Given the description of an element on the screen output the (x, y) to click on. 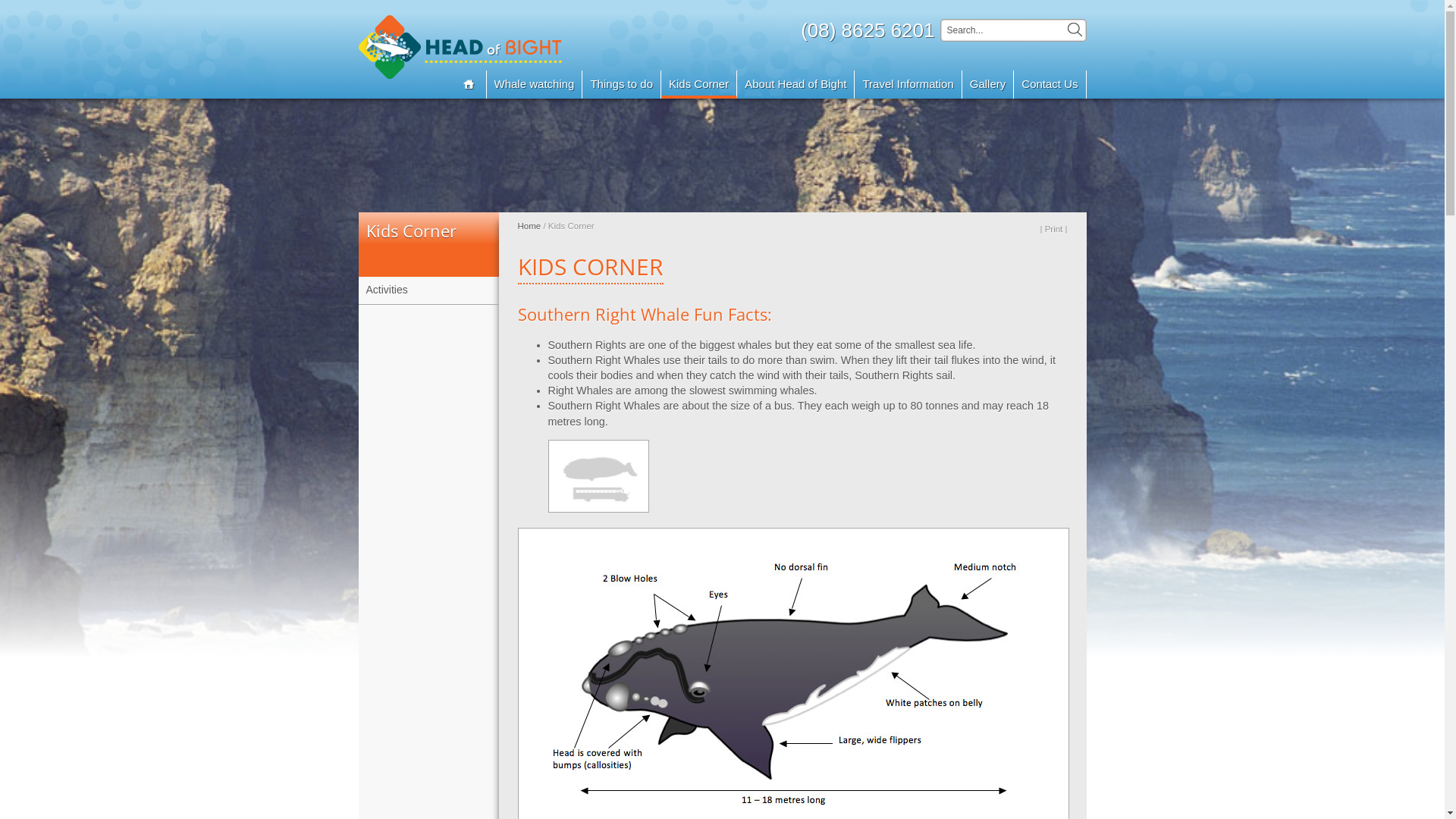
Things to do Element type: text (621, 84)
Travel Information Element type: text (907, 84)
Kids Corner Element type: text (699, 84)
About Head of Bight Element type: text (795, 84)
Activities Element type: text (427, 290)
| Print | Element type: text (1052, 228)
Gallery Element type: text (988, 84)
Home Element type: text (465, 84)
Contact Us Element type: text (1049, 84)
Whale watching Element type: text (534, 84)
Home Element type: text (528, 225)
Search Element type: text (1074, 29)
